Given the description of an element on the screen output the (x, y) to click on. 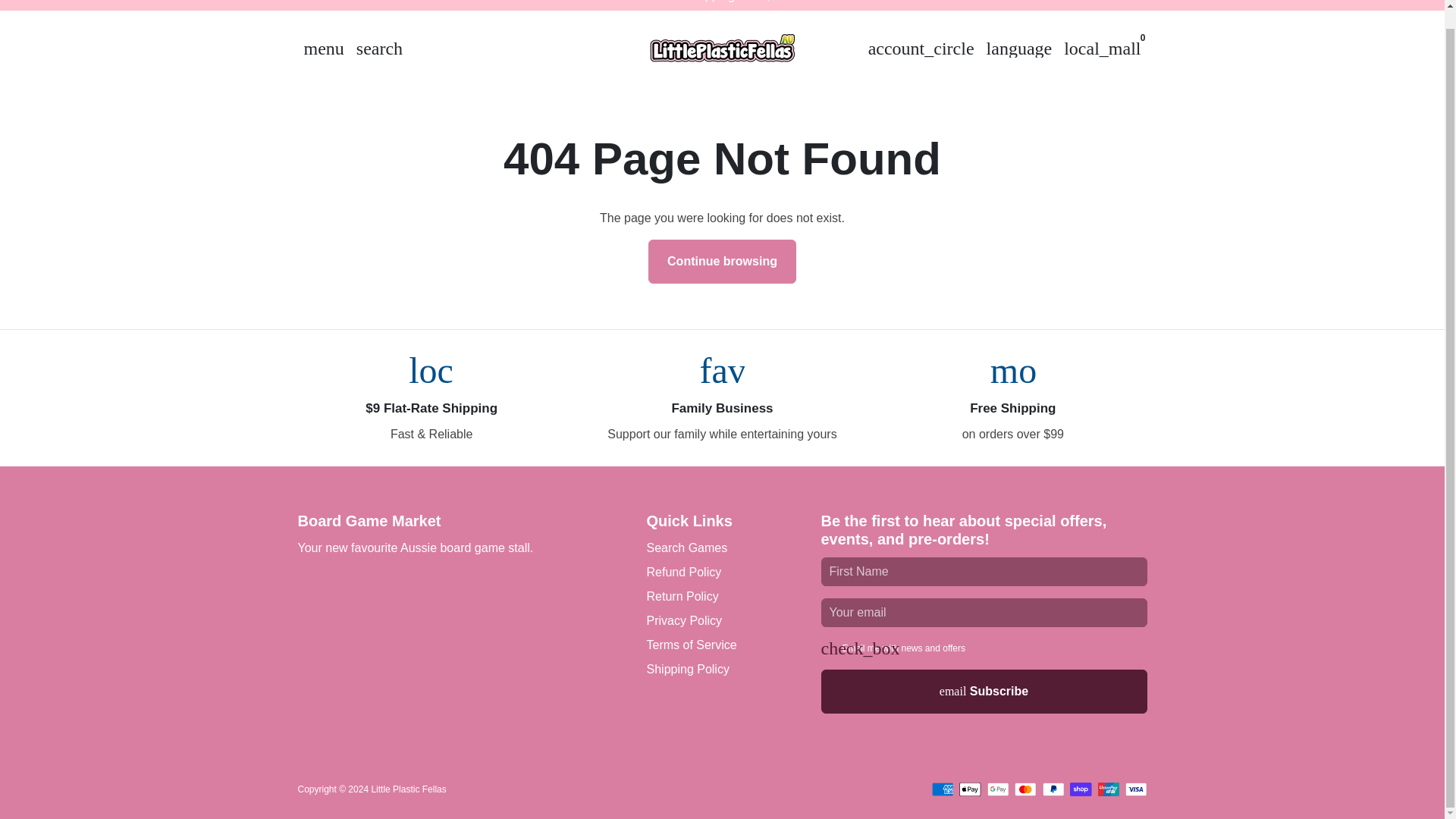
Log In (920, 48)
Shop Pay (1081, 789)
Visa (1136, 789)
PayPal (1052, 789)
menu (323, 48)
language (1018, 48)
Google Pay (998, 789)
Cart (1102, 48)
Menu (323, 48)
search (379, 48)
Search (379, 48)
Union Pay (1108, 789)
Mastercard (1025, 789)
Apple Pay (970, 789)
American Express (941, 789)
